Given the description of an element on the screen output the (x, y) to click on. 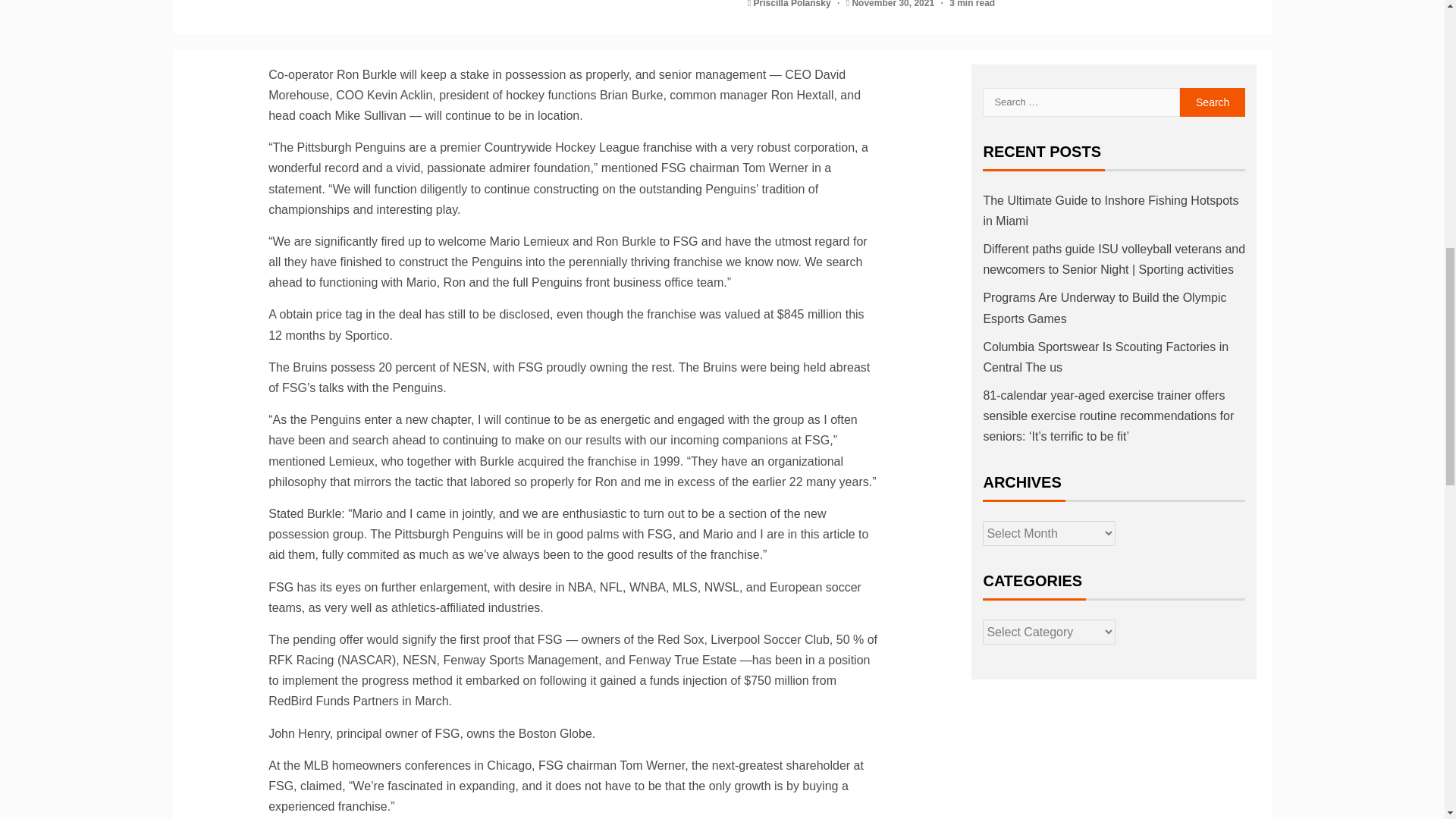
Search (1212, 102)
Priscilla Polansky (793, 4)
Search (1212, 102)
